Given the description of an element on the screen output the (x, y) to click on. 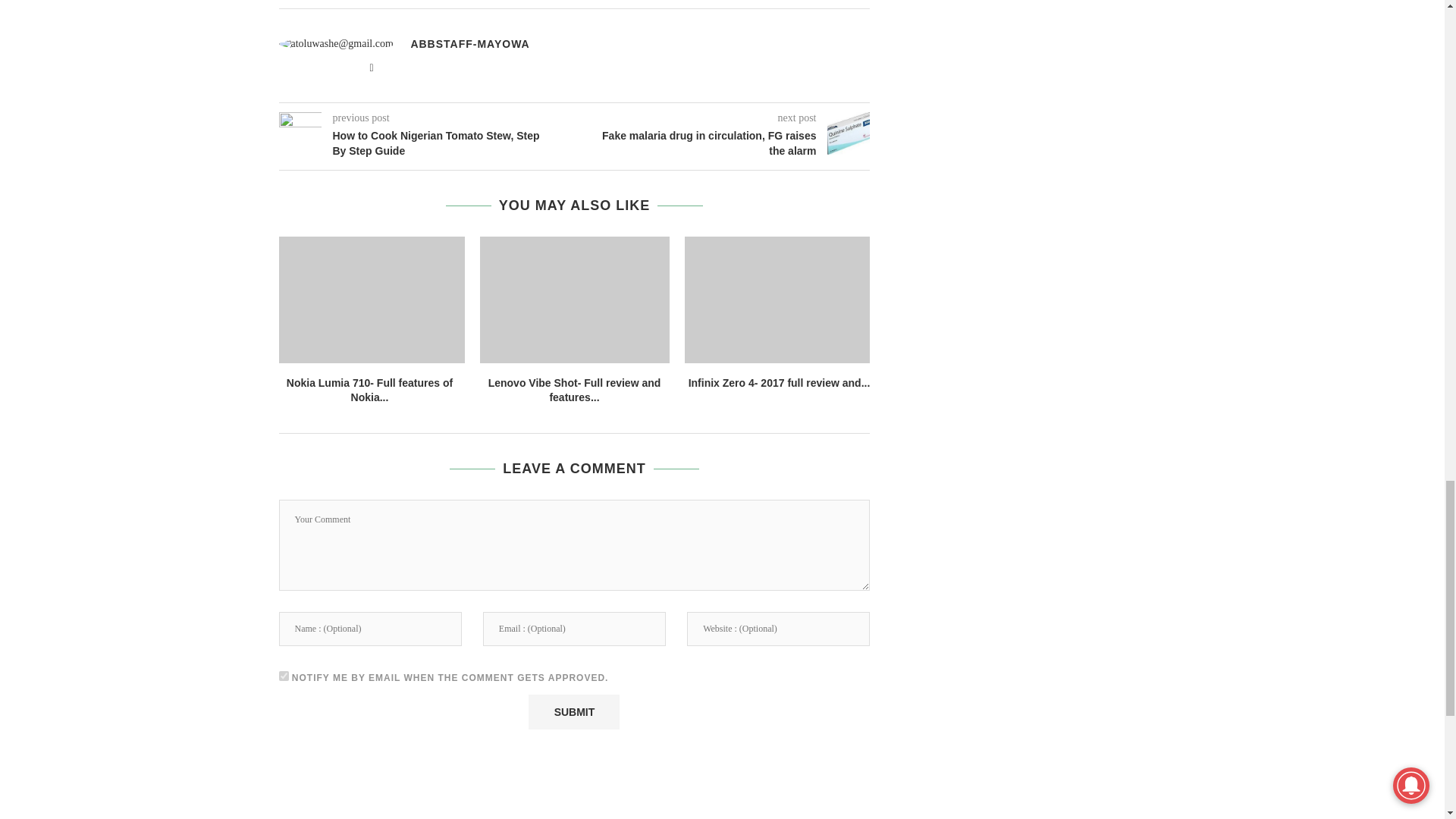
Posts by ABBStaff-Mayowa (469, 43)
Submit (574, 711)
1 (283, 675)
